Given the description of an element on the screen output the (x, y) to click on. 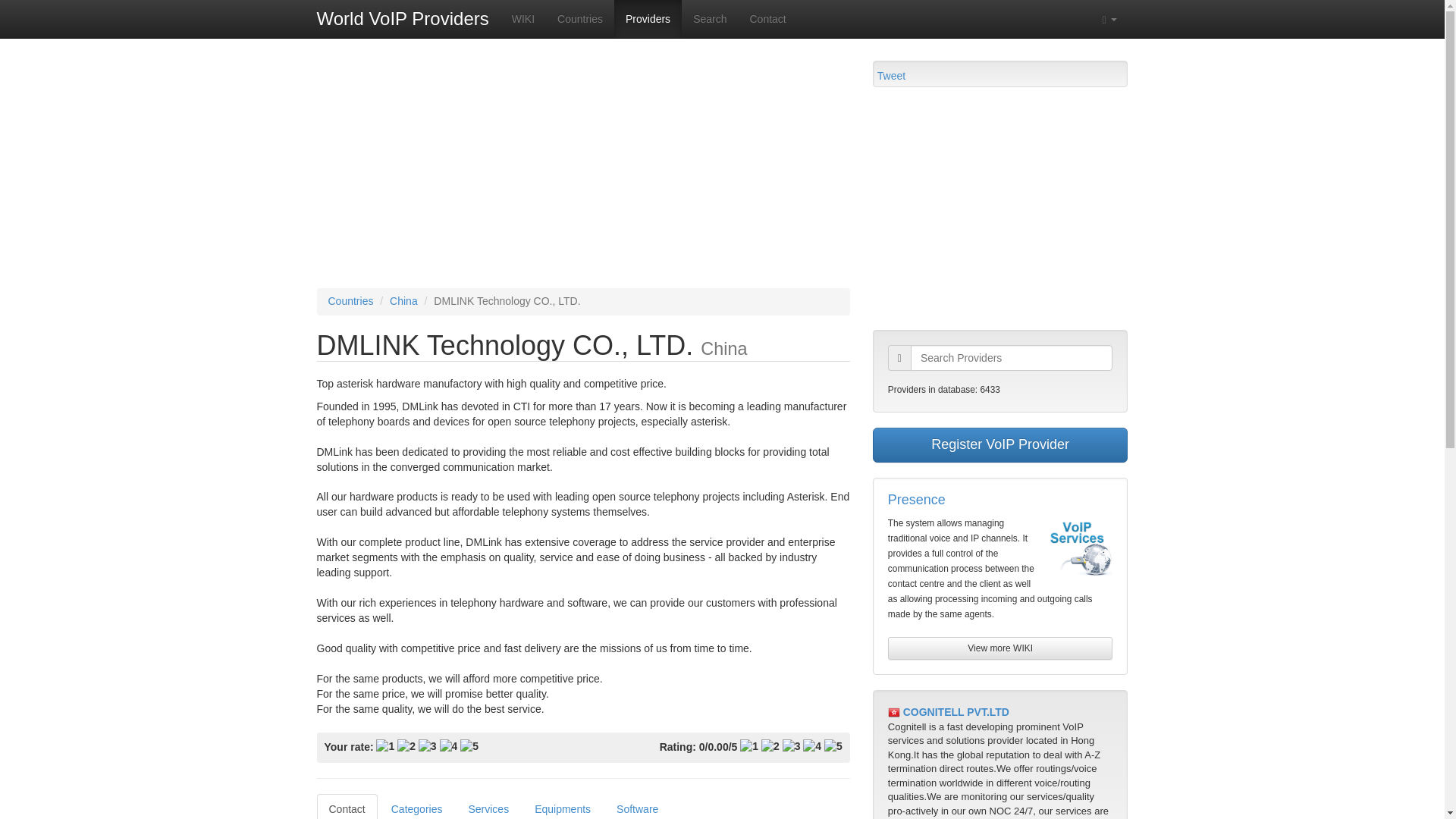
Not rated yet! (833, 746)
Categories (416, 806)
Register VoIP Provider (1000, 444)
Countries (349, 300)
Presence (916, 499)
Contact (767, 18)
WIKI (523, 18)
Services (488, 806)
Software (636, 806)
Not rated yet! (748, 746)
Tweet (891, 75)
COGNITELL PVT.LTD (955, 711)
4 (448, 746)
2 (405, 746)
Not rated yet! (791, 746)
